Given the description of an element on the screen output the (x, y) to click on. 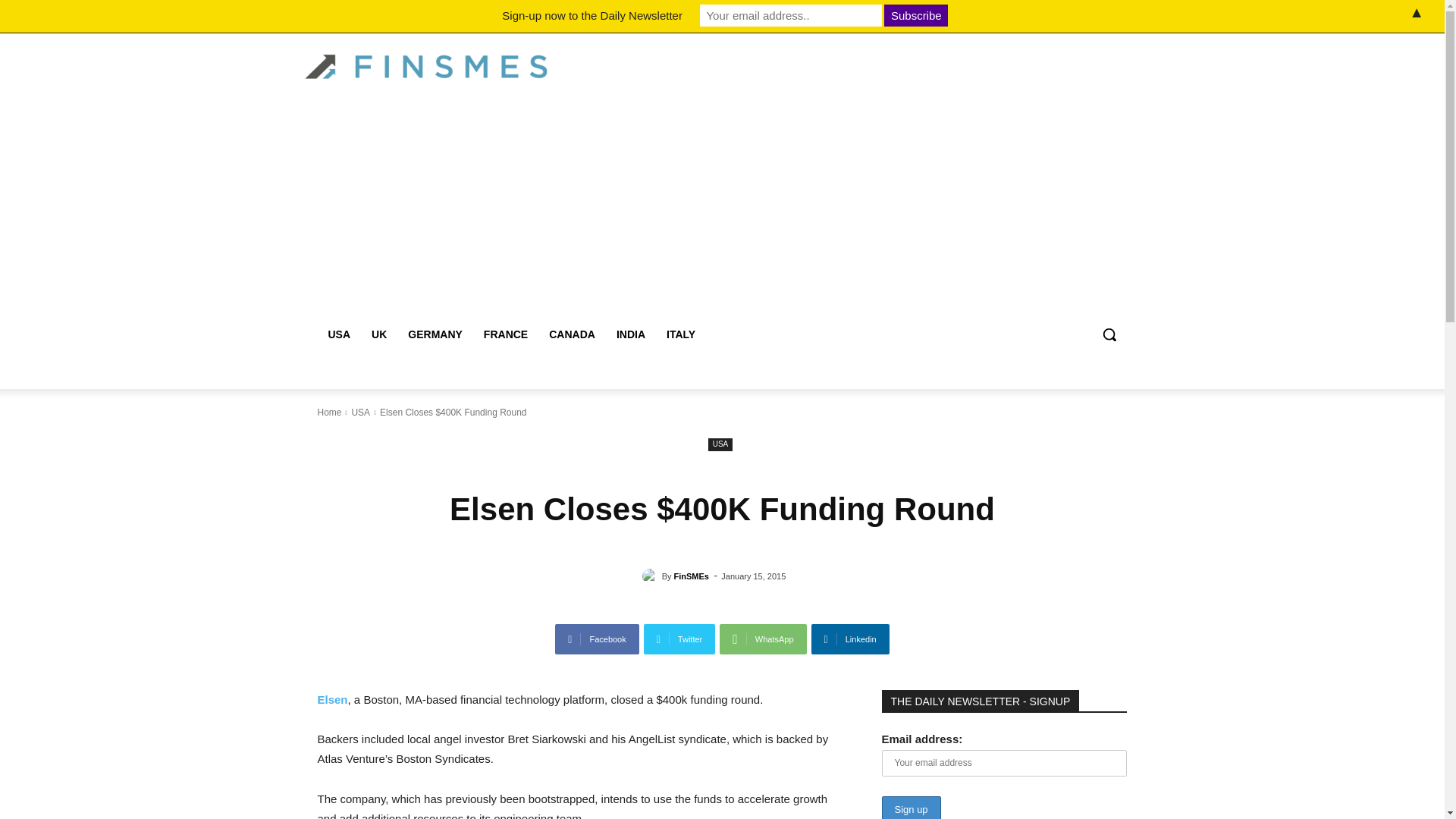
USA (359, 412)
FinSMEs (652, 575)
View all posts in USA (359, 412)
USA (339, 334)
WhatsApp (762, 639)
CANADA (571, 334)
INDIA (630, 334)
UK (379, 334)
Facebook (596, 639)
GERMANY (435, 334)
FinSMEs (691, 576)
FRANCE (505, 334)
Facebook (596, 639)
Twitter (679, 639)
Subscribe (915, 15)
